Given the description of an element on the screen output the (x, y) to click on. 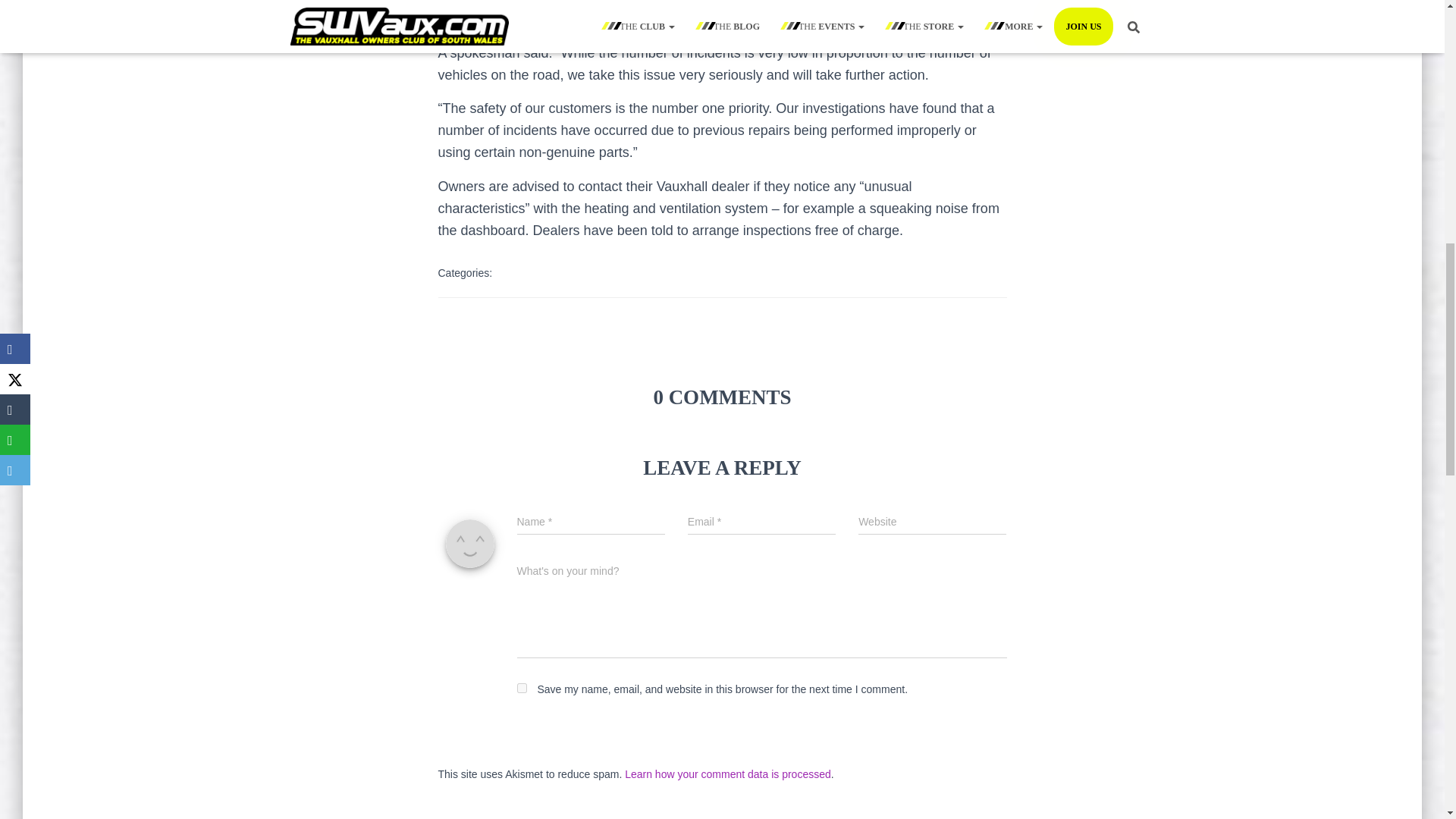
Learn how your comment data is processed (727, 774)
yes (521, 687)
Post Comment (944, 734)
